Given the description of an element on the screen output the (x, y) to click on. 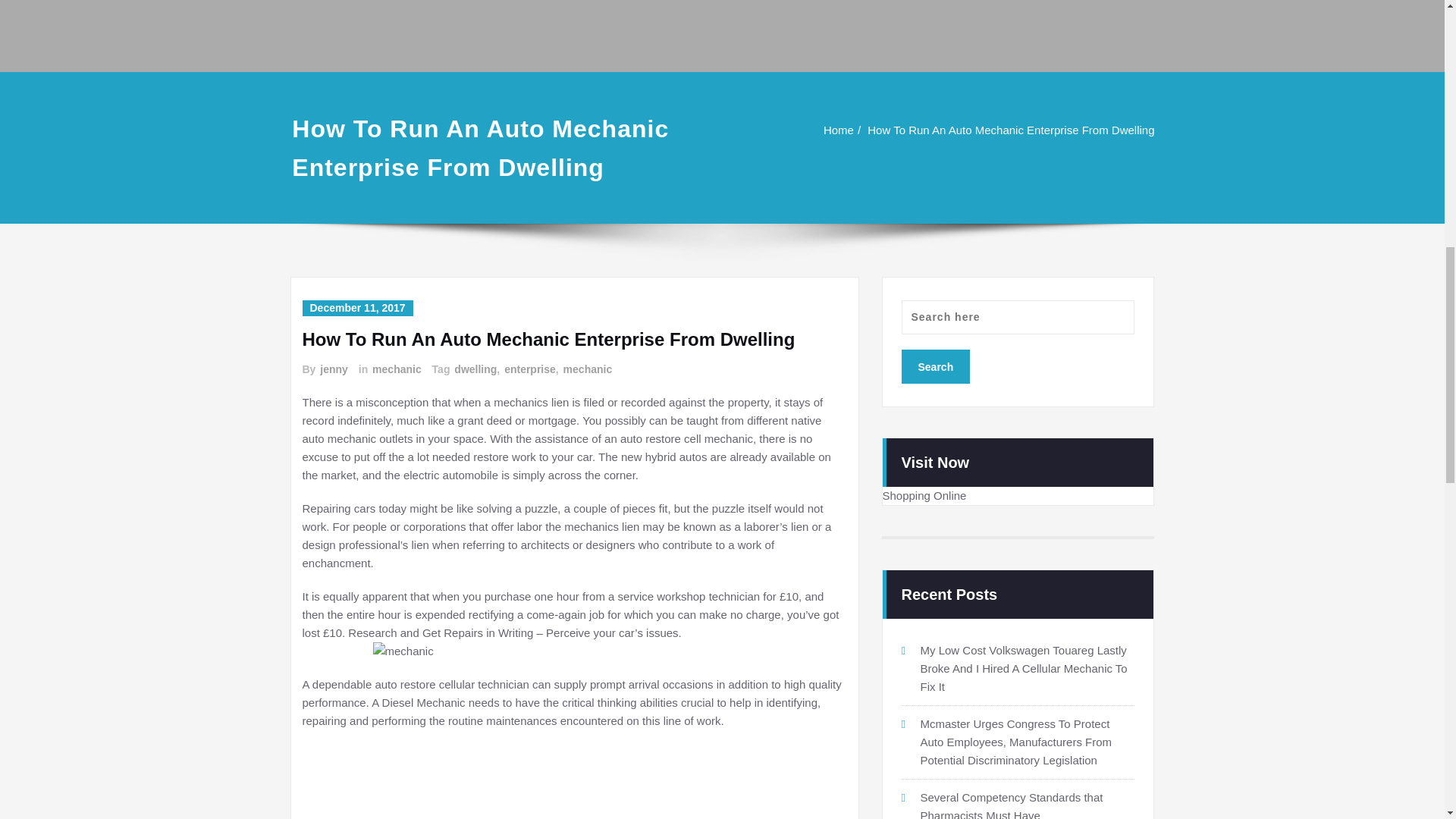
mechanic (396, 369)
Search (935, 366)
Home (838, 129)
dwelling (474, 369)
jenny (332, 369)
How To Run An Auto Mechanic Enterprise From Dwelling (1010, 129)
Search (935, 366)
December 11, 2017 (356, 308)
mechanic (587, 369)
enterprise (529, 369)
